Given the description of an element on the screen output the (x, y) to click on. 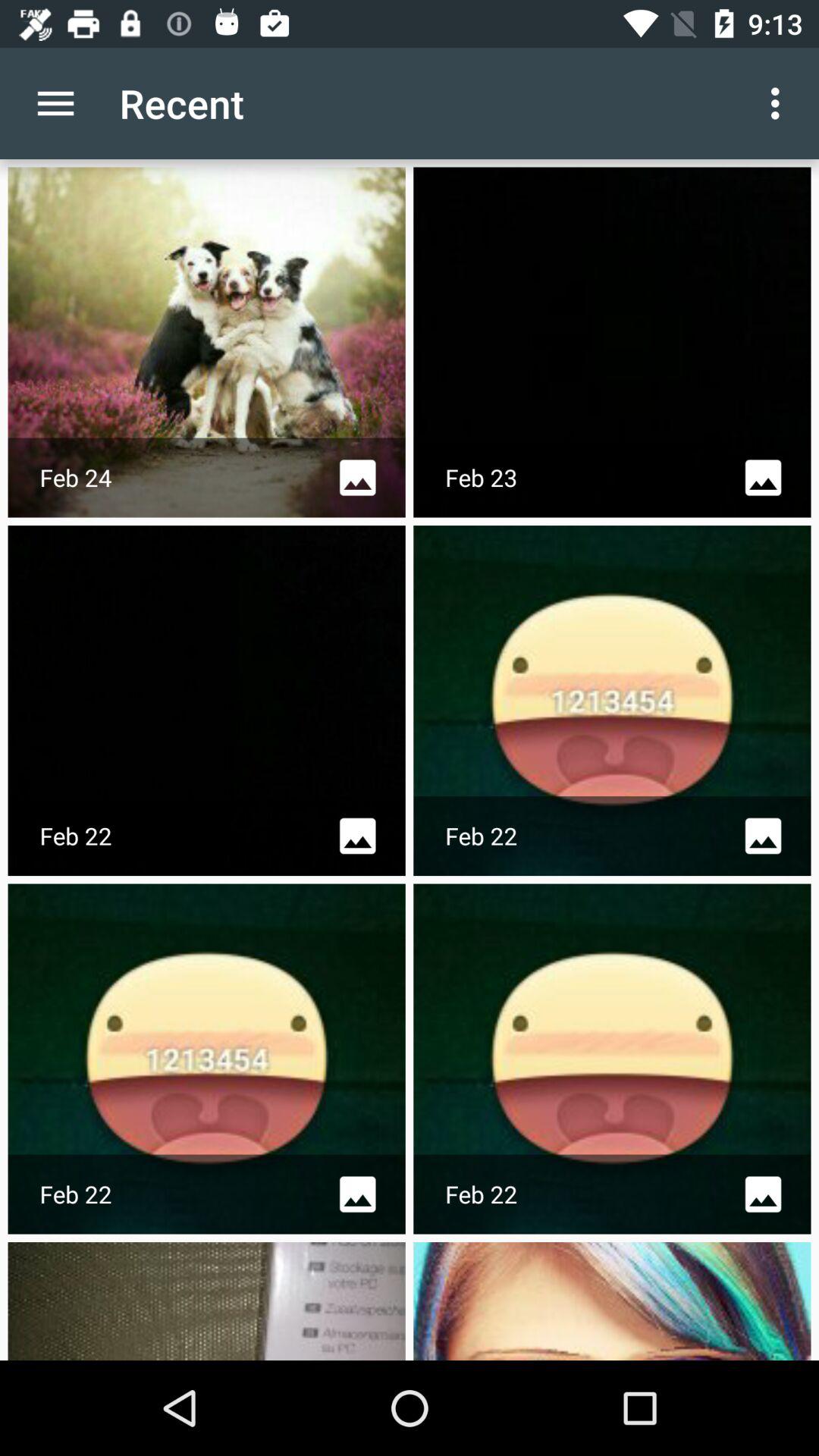
press the app next to recent (55, 103)
